Given the description of an element on the screen output the (x, y) to click on. 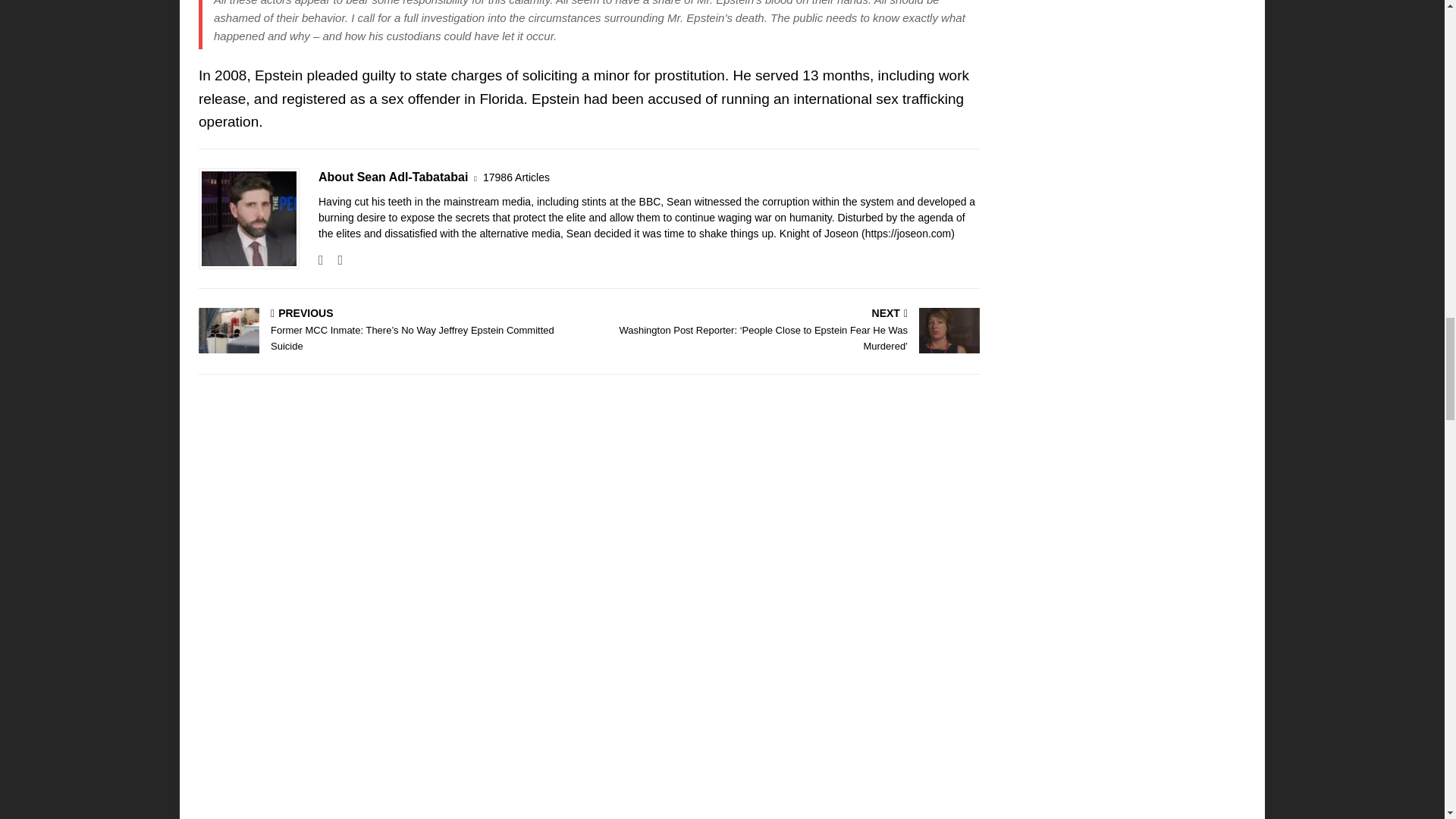
More articles written by Sean Adl-Tabatabai' (516, 177)
Follow Sean Adl-Tabatabai on Twitter (334, 259)
